Given the description of an element on the screen output the (x, y) to click on. 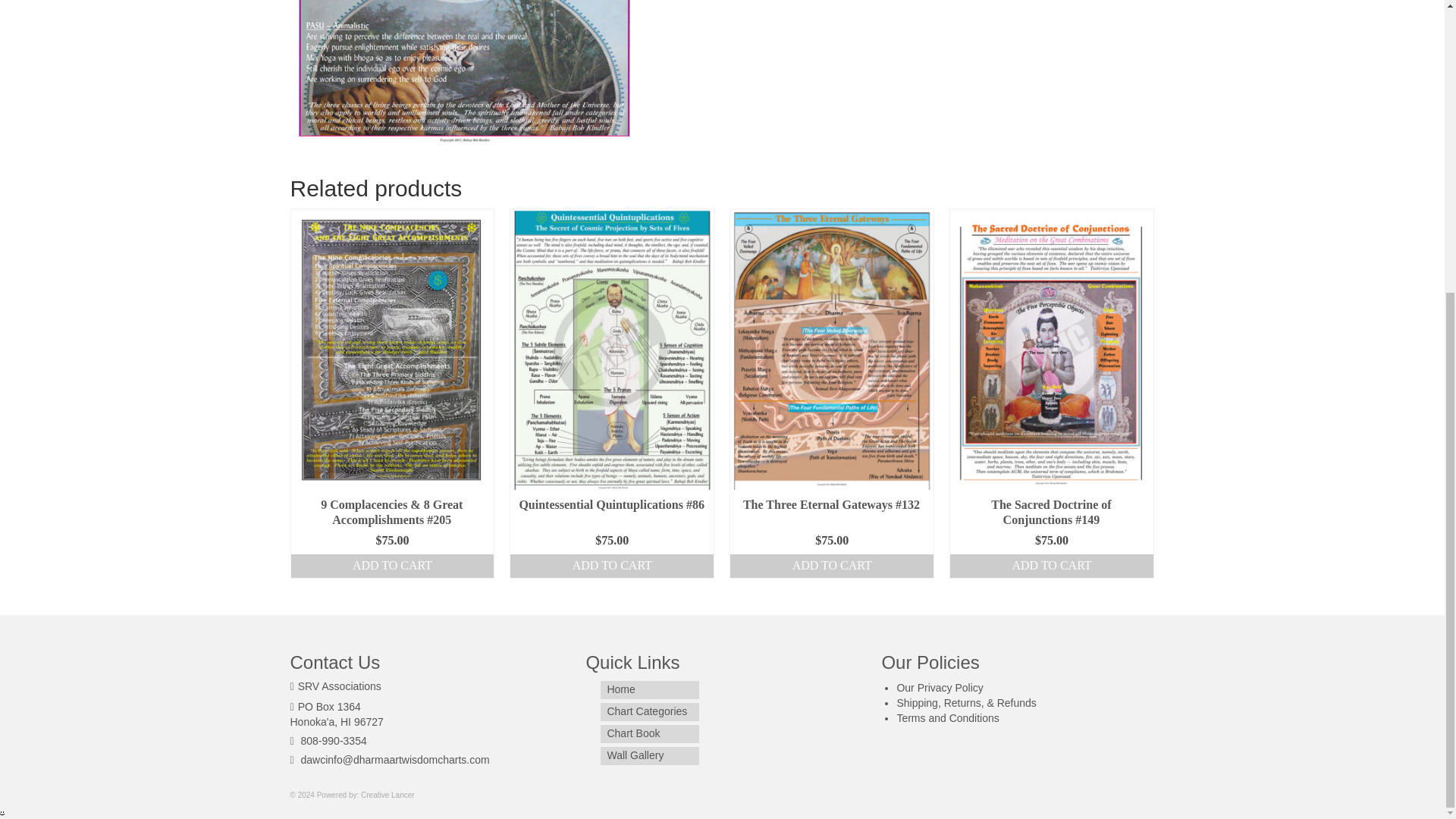
Wall Gallery (648, 755)
Chart Categories (648, 711)
Our Privacy Policy (939, 687)
ADD TO CART (612, 566)
Chart Book (648, 733)
ADD TO CART (1051, 566)
ADD TO CART (393, 566)
ADD TO CART (831, 566)
Home (648, 689)
Terms and Conditions (947, 717)
